Given the description of an element on the screen output the (x, y) to click on. 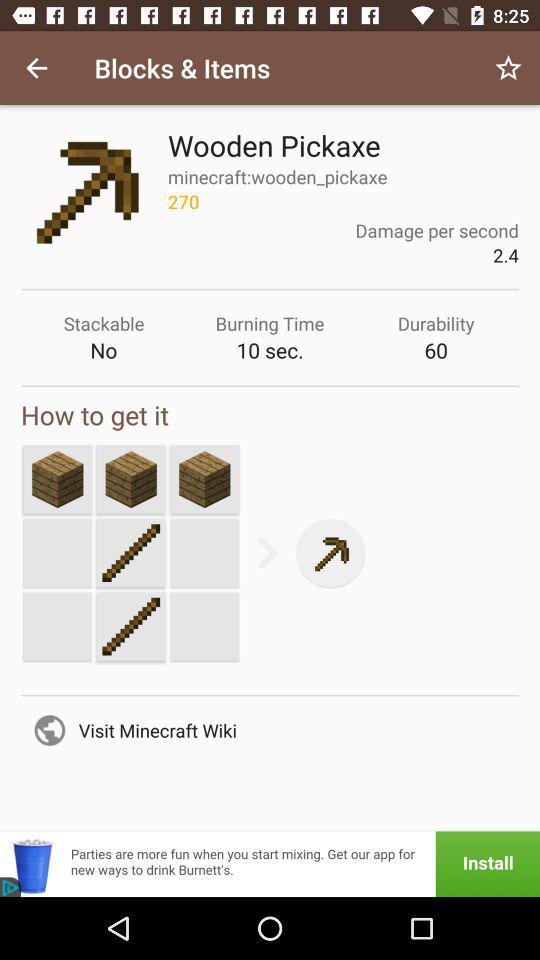
install the app (270, 864)
